Given the description of an element on the screen output the (x, y) to click on. 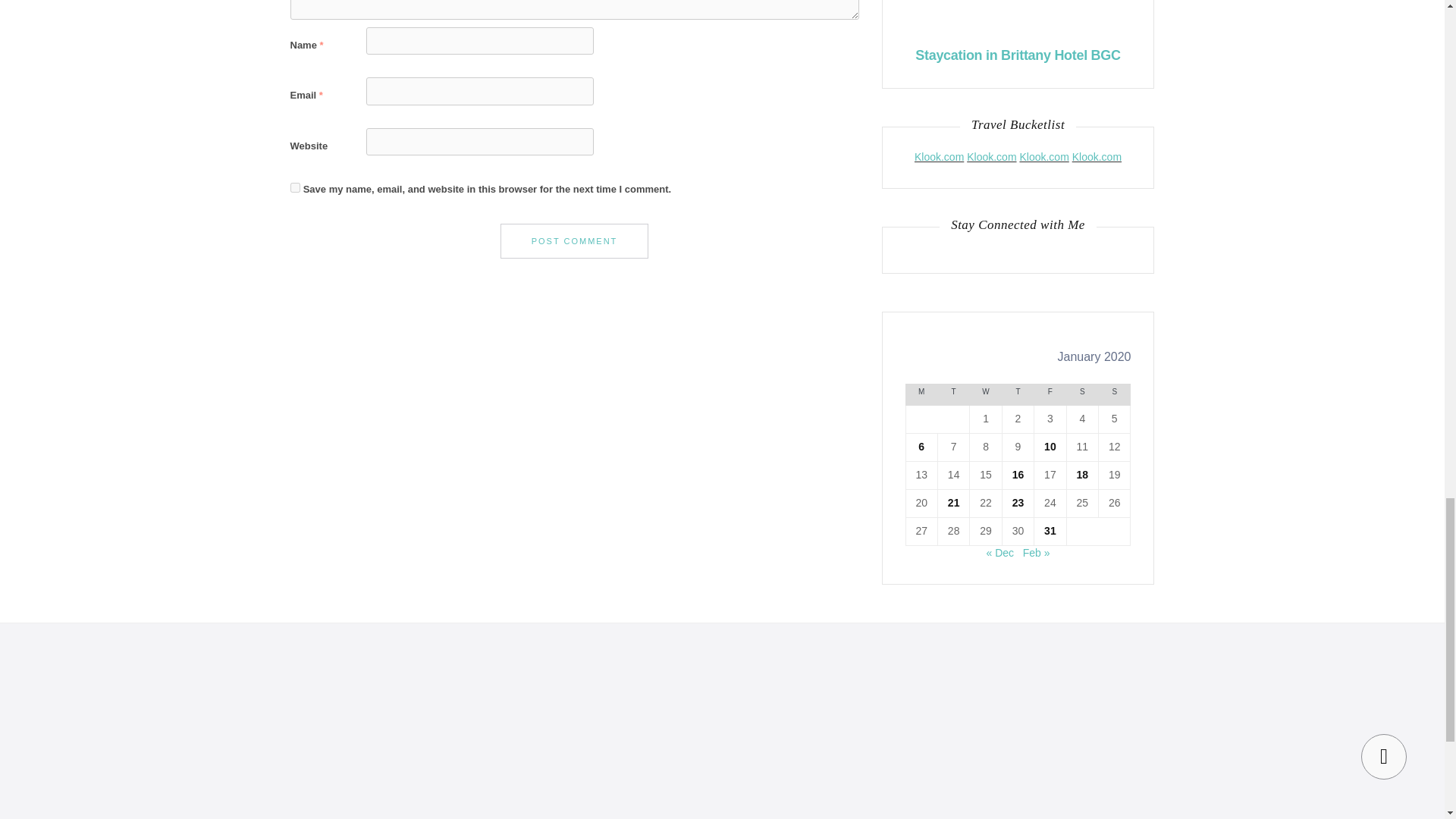
Post Comment (574, 241)
yes (294, 187)
Post Comment (574, 241)
